Given the description of an element on the screen output the (x, y) to click on. 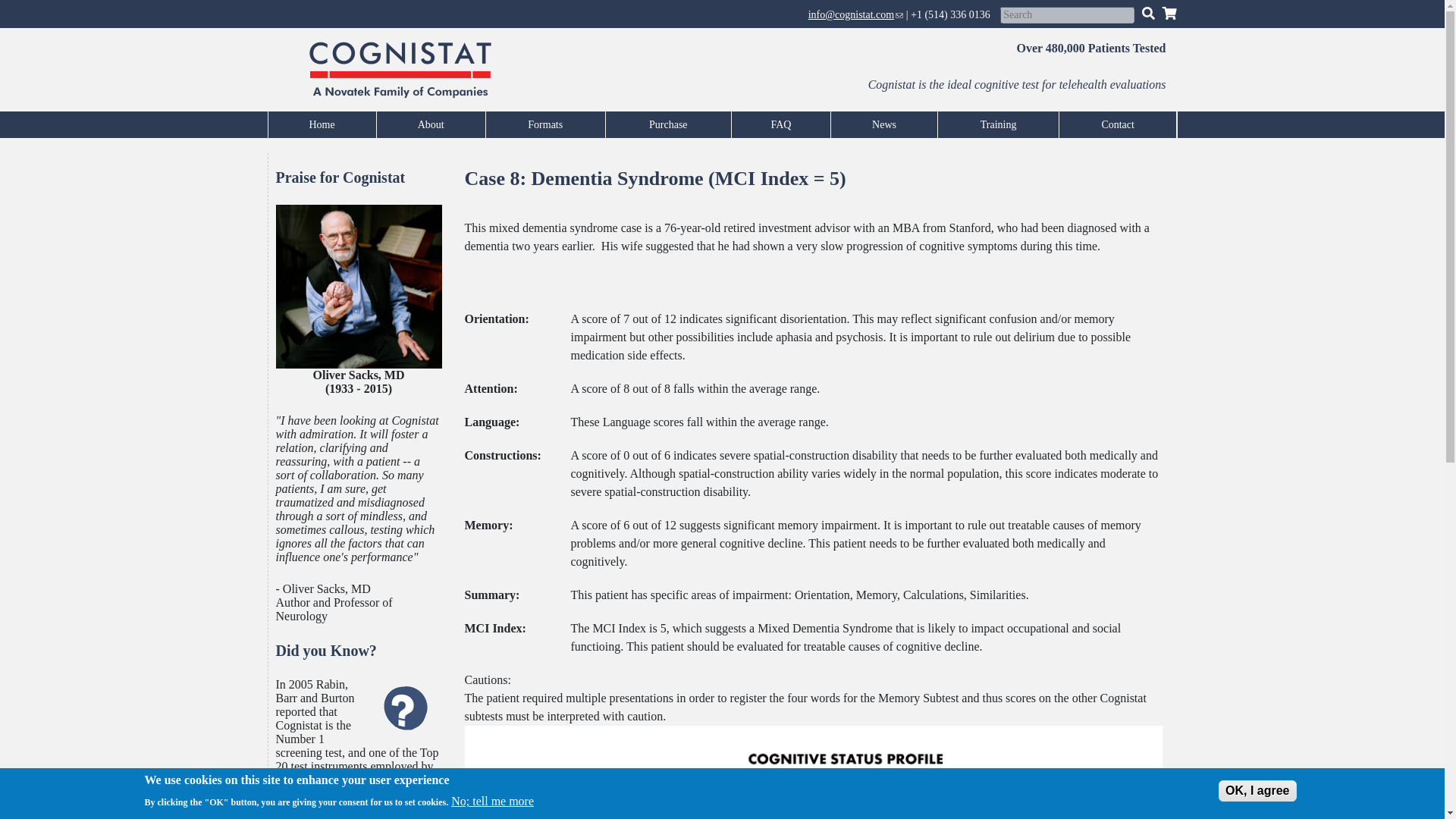
Cognistat Cognitive Assessment (321, 124)
OK, I agree (1256, 790)
Home (321, 124)
FAQ (780, 124)
Enter the terms you wish to search for. (1067, 14)
Purchase Cognistat (667, 124)
News (884, 124)
No; tell me more (492, 801)
Search (1147, 12)
